Given the description of an element on the screen output the (x, y) to click on. 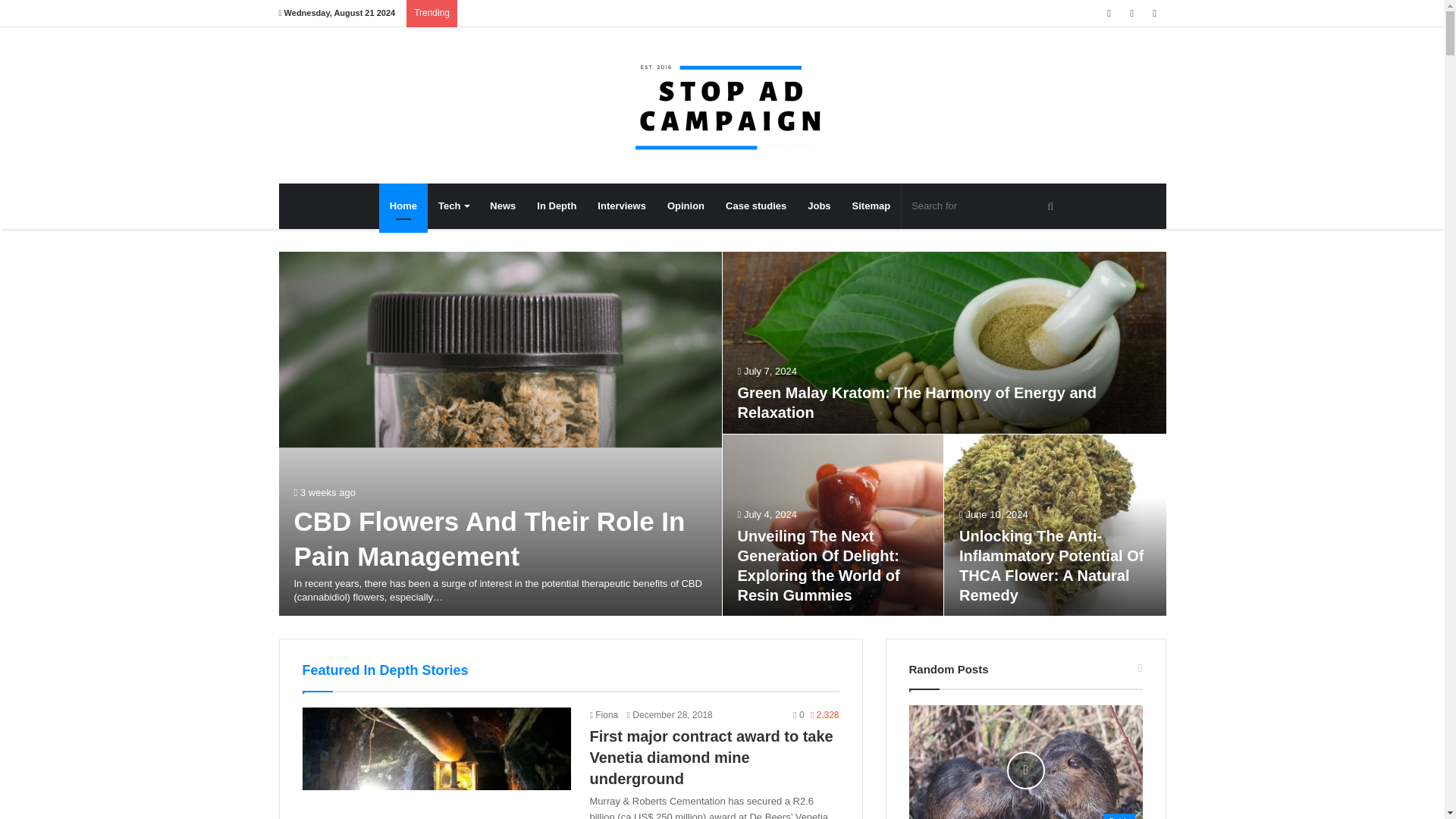
Tech (453, 206)
Opinion (685, 206)
Search for (983, 206)
Interviews (621, 206)
Sitemap (871, 206)
Green Malay Kratom: The Harmony of Energy and Relaxation (916, 402)
CBD Flowers And Their Role In Pain Management (489, 538)
Case studies (755, 206)
